Given the description of an element on the screen output the (x, y) to click on. 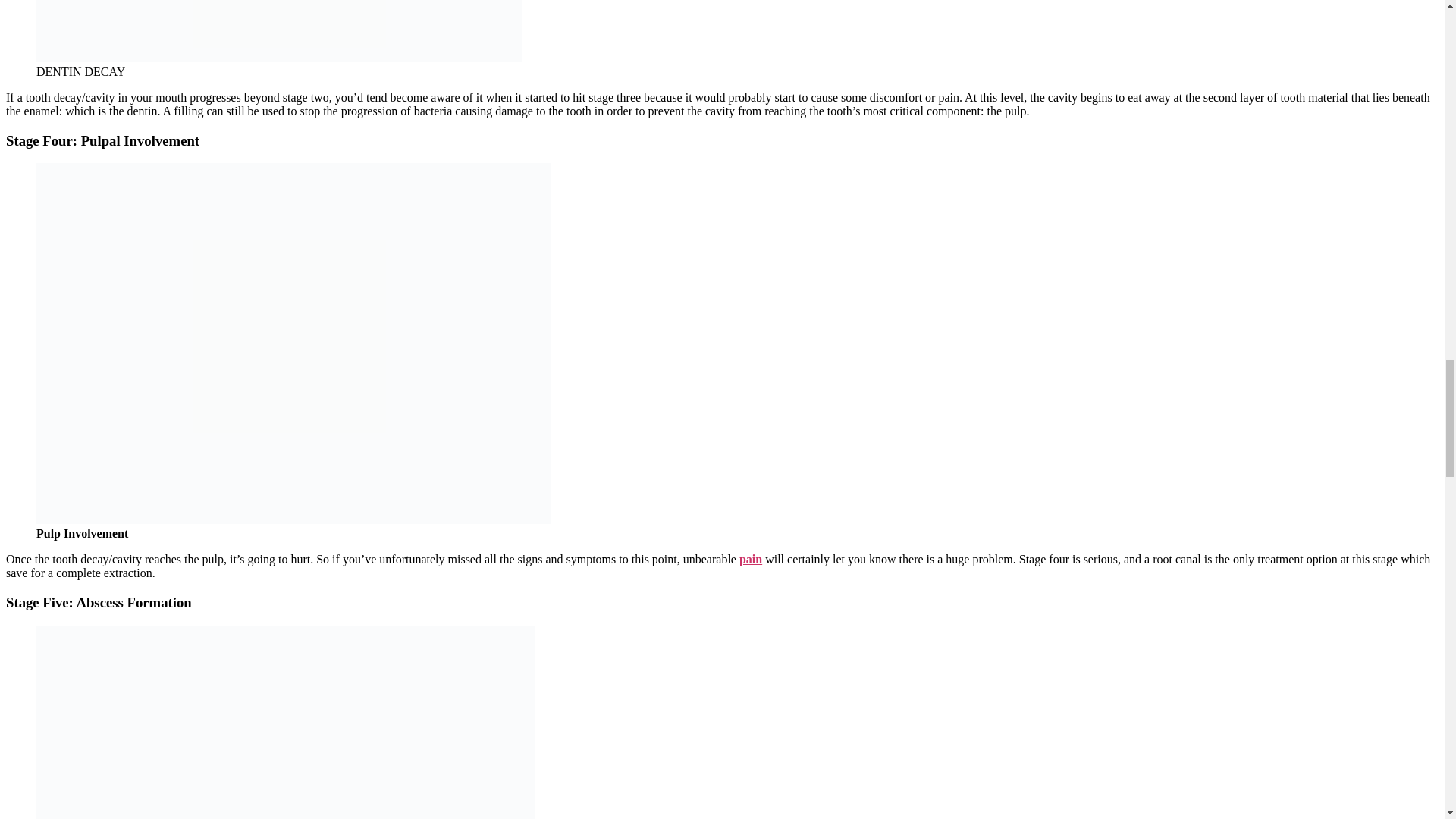
pain (750, 558)
